Given the description of an element on the screen output the (x, y) to click on. 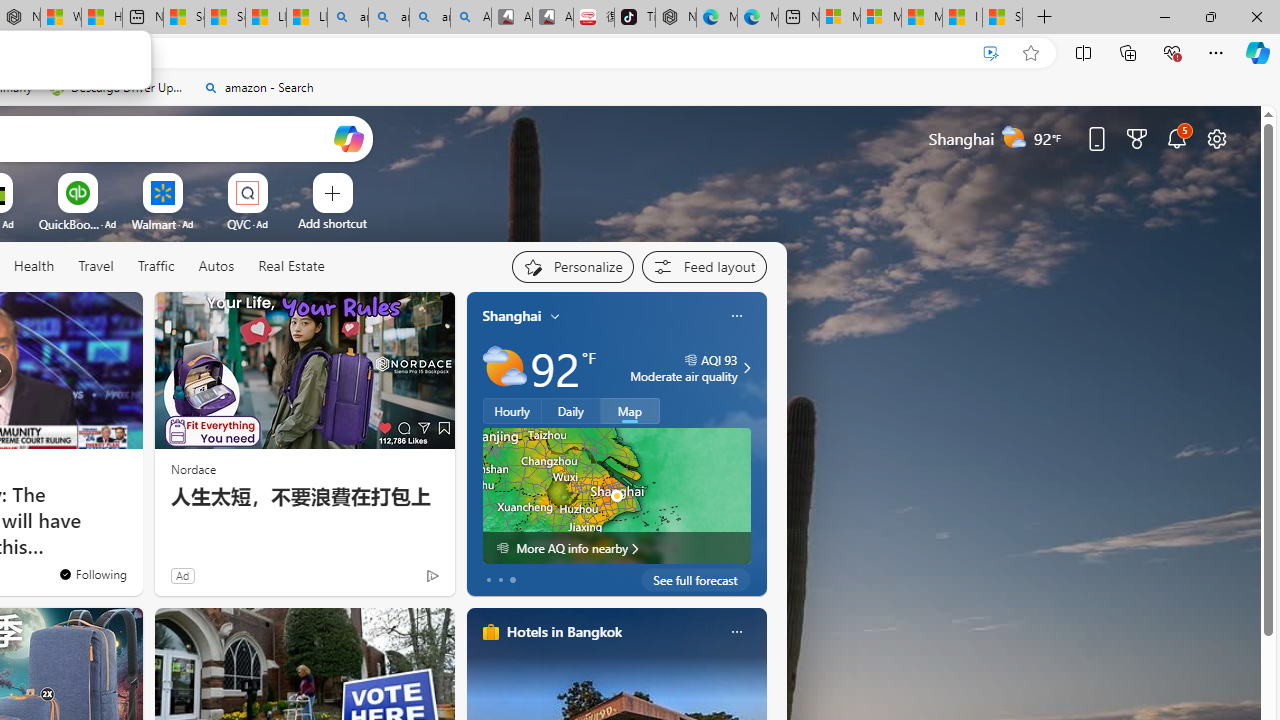
You're following FOX News (92, 573)
New Tab (1044, 17)
Autos (216, 267)
tab-0 (488, 579)
Settings and more (Alt+F) (1215, 52)
Close (1256, 16)
Hotels in Bangkok (563, 631)
aqi-icon AQI 93 Moderate air quality (683, 367)
Shanghai (511, 315)
Copilot (Ctrl+Shift+.) (1258, 52)
Health (33, 267)
Health (34, 265)
Page settings (1216, 138)
Class: weather-arrow-glyph (746, 367)
